Given the description of an element on the screen output the (x, y) to click on. 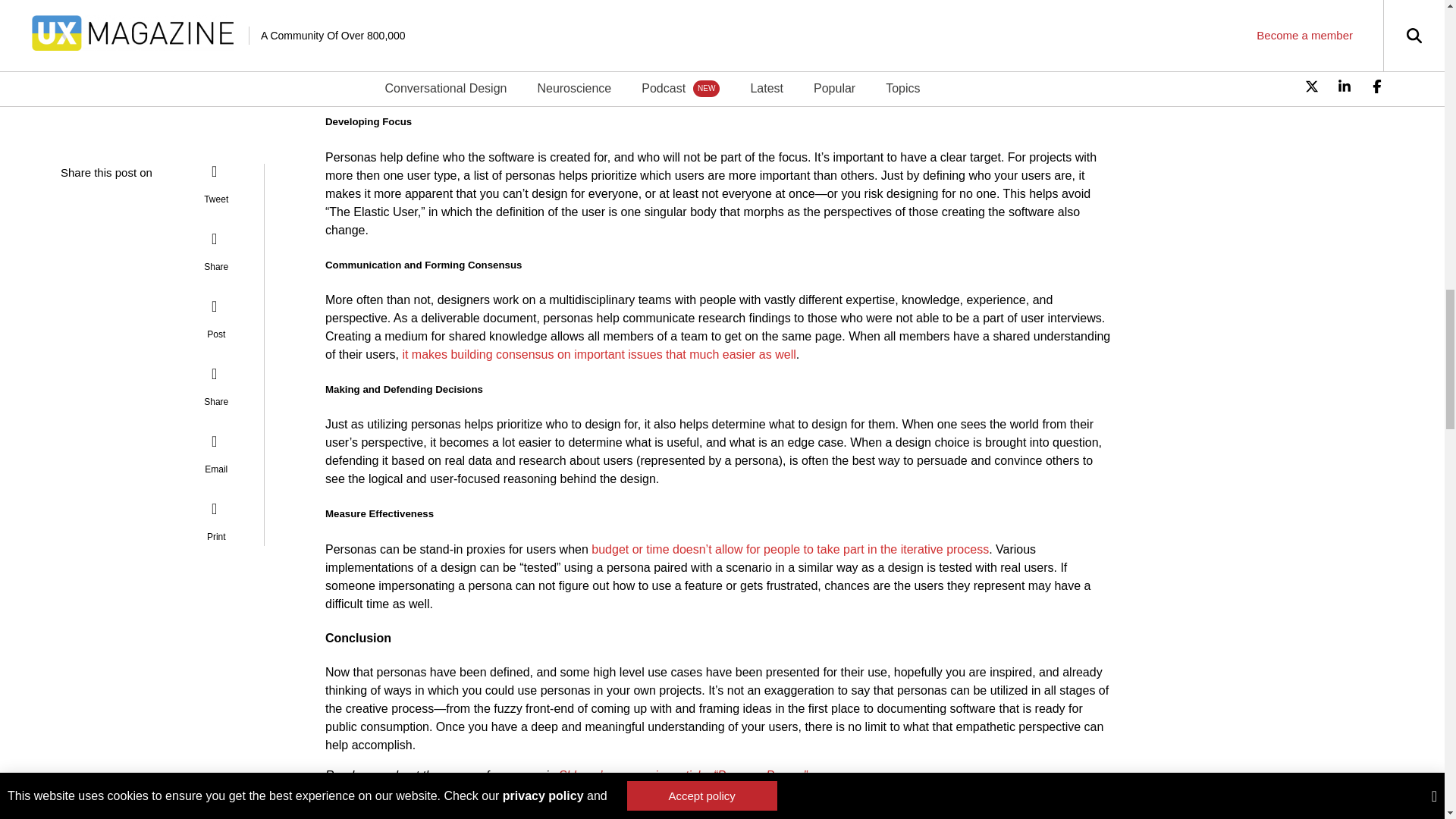
Japanese sandals (429, 805)
